Given the description of an element on the screen output the (x, y) to click on. 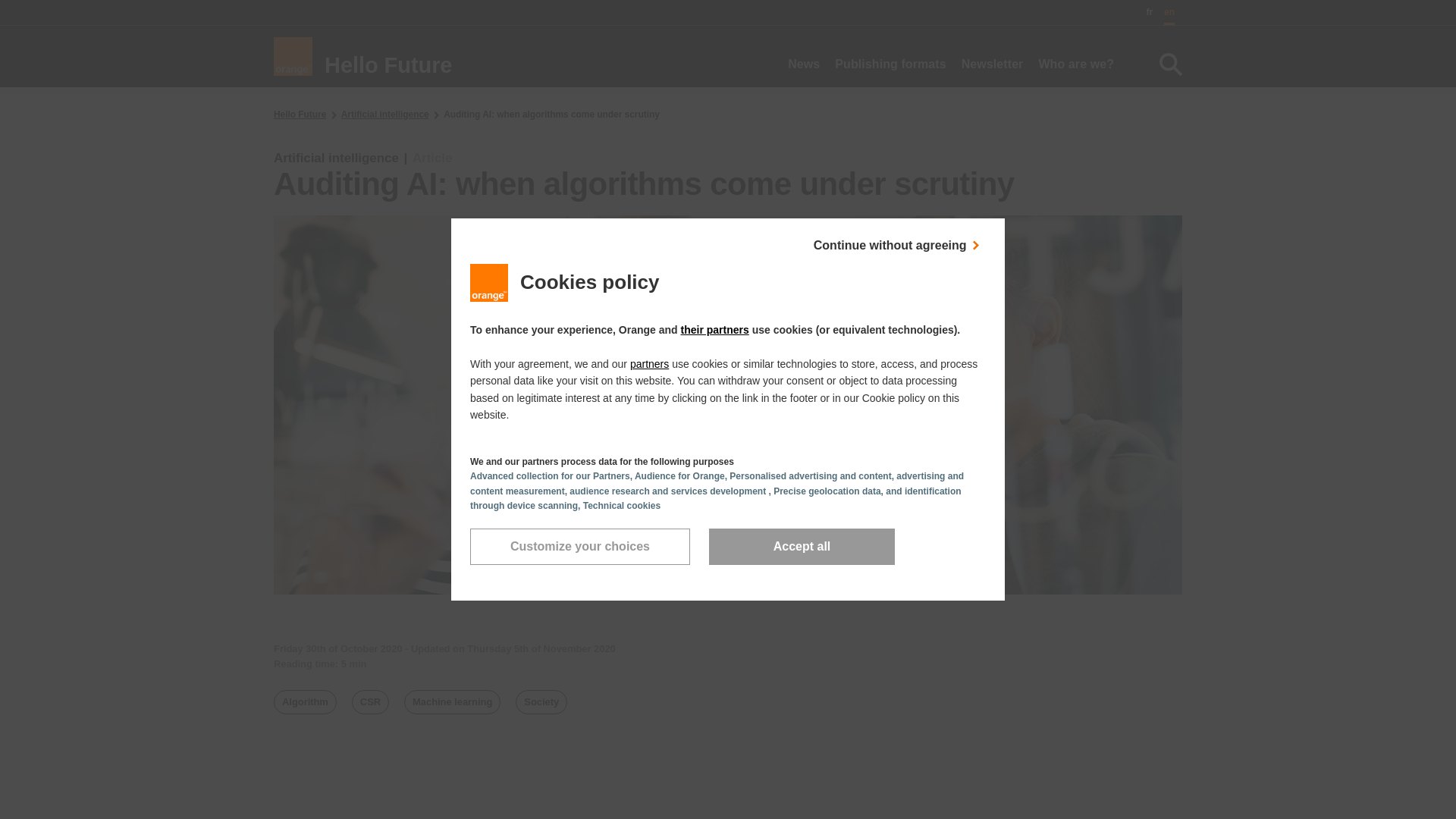
Artificial intelligence (384, 113)
Newsletter (991, 64)
Article (431, 157)
partners (649, 363)
Customize your choices (580, 546)
their partners (715, 329)
Accept all (802, 546)
Hello Future (362, 56)
News (803, 64)
Artificial intelligence (335, 157)
